Given the description of an element on the screen output the (x, y) to click on. 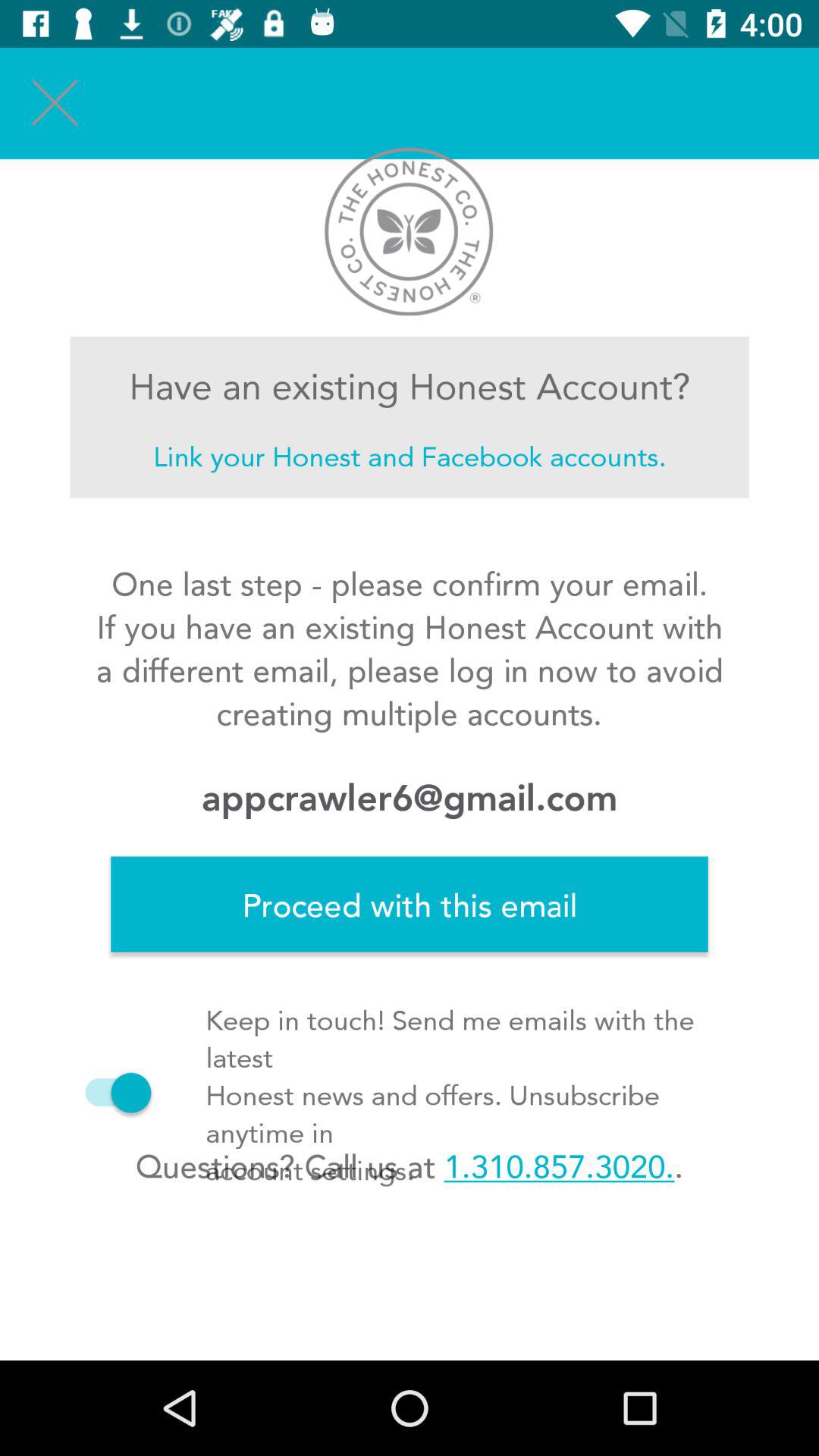
click icon to the left of the keep in touch (110, 1092)
